Given the description of an element on the screen output the (x, y) to click on. 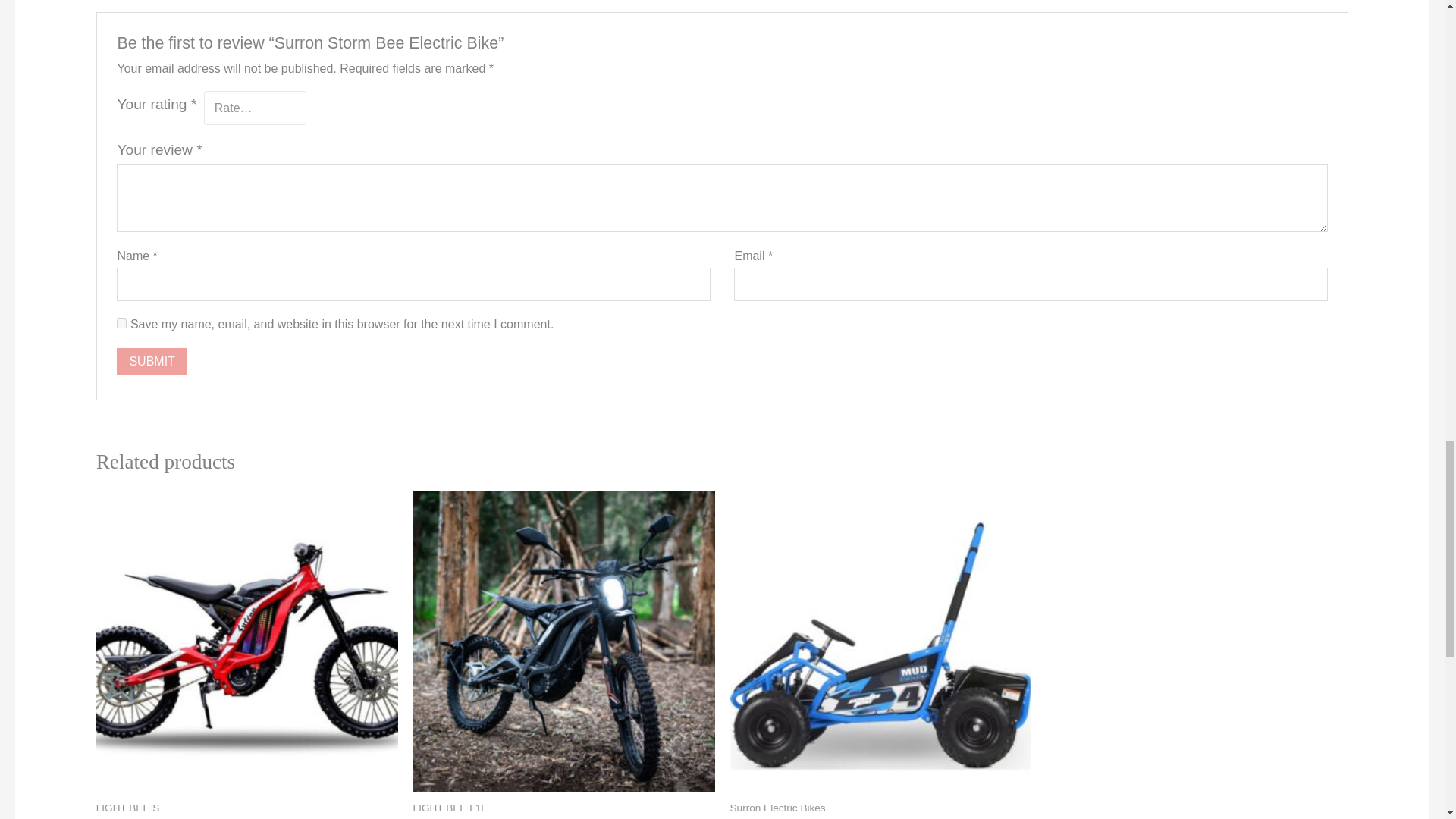
Submit (151, 361)
Submit (151, 361)
yes (121, 323)
